Given the description of an element on the screen output the (x, y) to click on. 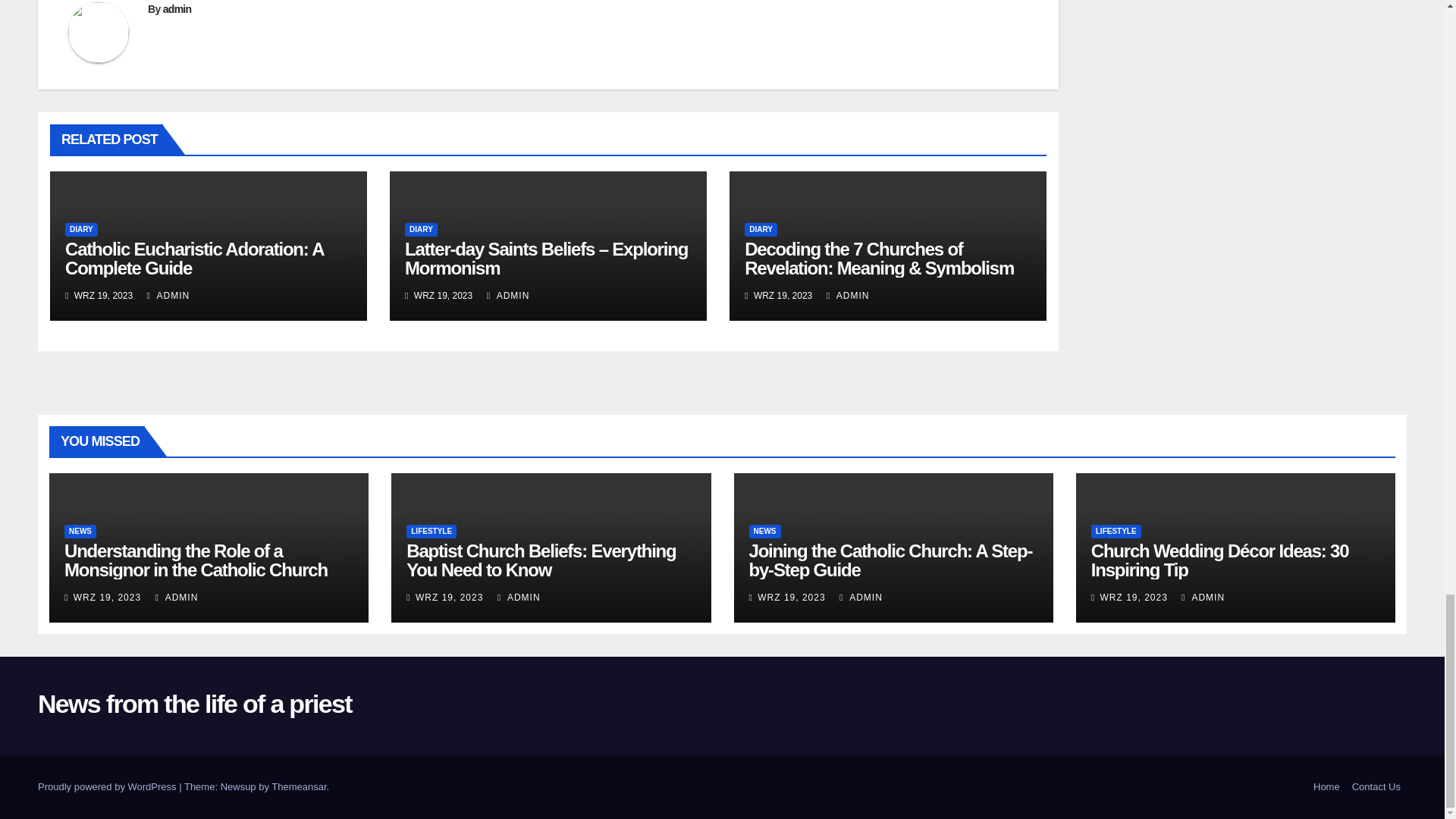
DIARY (760, 229)
admin (177, 9)
ADMIN (507, 295)
DIARY (421, 229)
Home (1326, 786)
Catholic Eucharistic Adoration: A Complete Guide (194, 258)
ADMIN (848, 295)
